Given the description of an element on the screen output the (x, y) to click on. 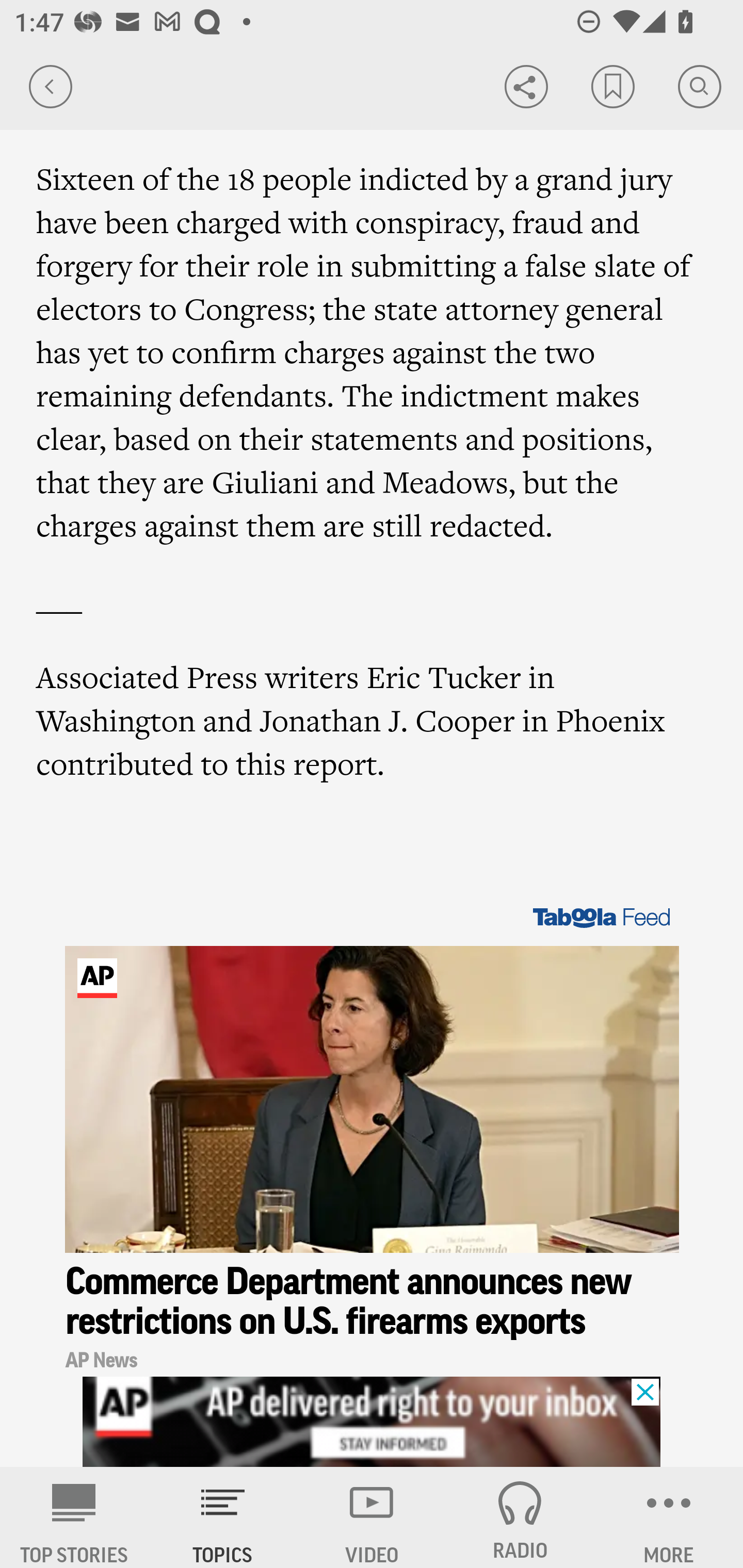
Image for Taboola Advertising Unit (372, 1099)
AP News in Taboola advertising section AP News (372, 1357)
AP News TOP STORIES (74, 1517)
TOPICS (222, 1517)
VIDEO (371, 1517)
RADIO (519, 1517)
MORE (668, 1517)
